Given the description of an element on the screen output the (x, y) to click on. 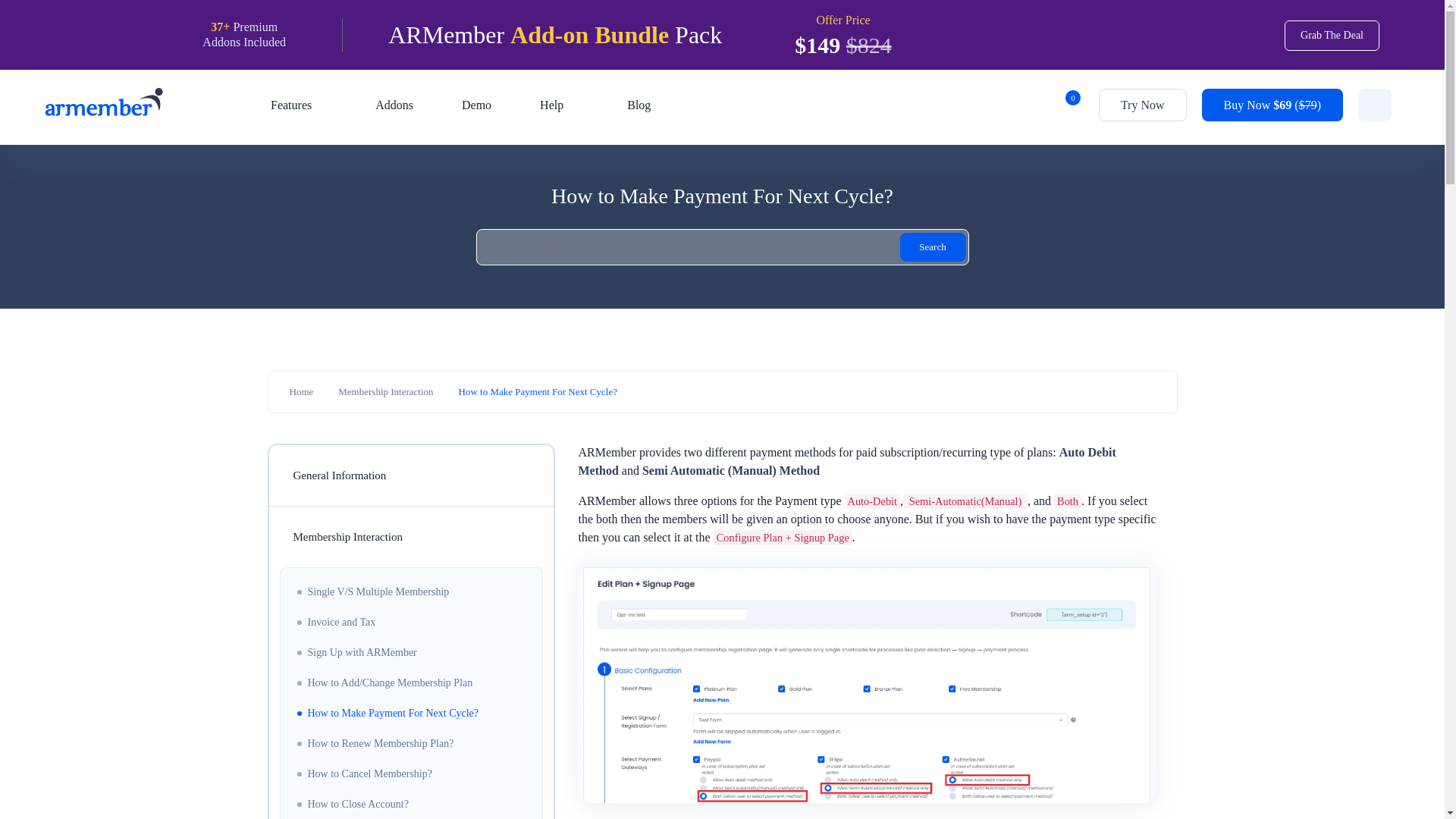
Grab The Deal (1331, 35)
Features (298, 104)
Search (932, 246)
Addons (394, 104)
Demo (476, 104)
0 (1063, 110)
Search (932, 246)
Membership Interaction (384, 391)
Home (301, 391)
Try Now (1142, 104)
